Given the description of an element on the screen output the (x, y) to click on. 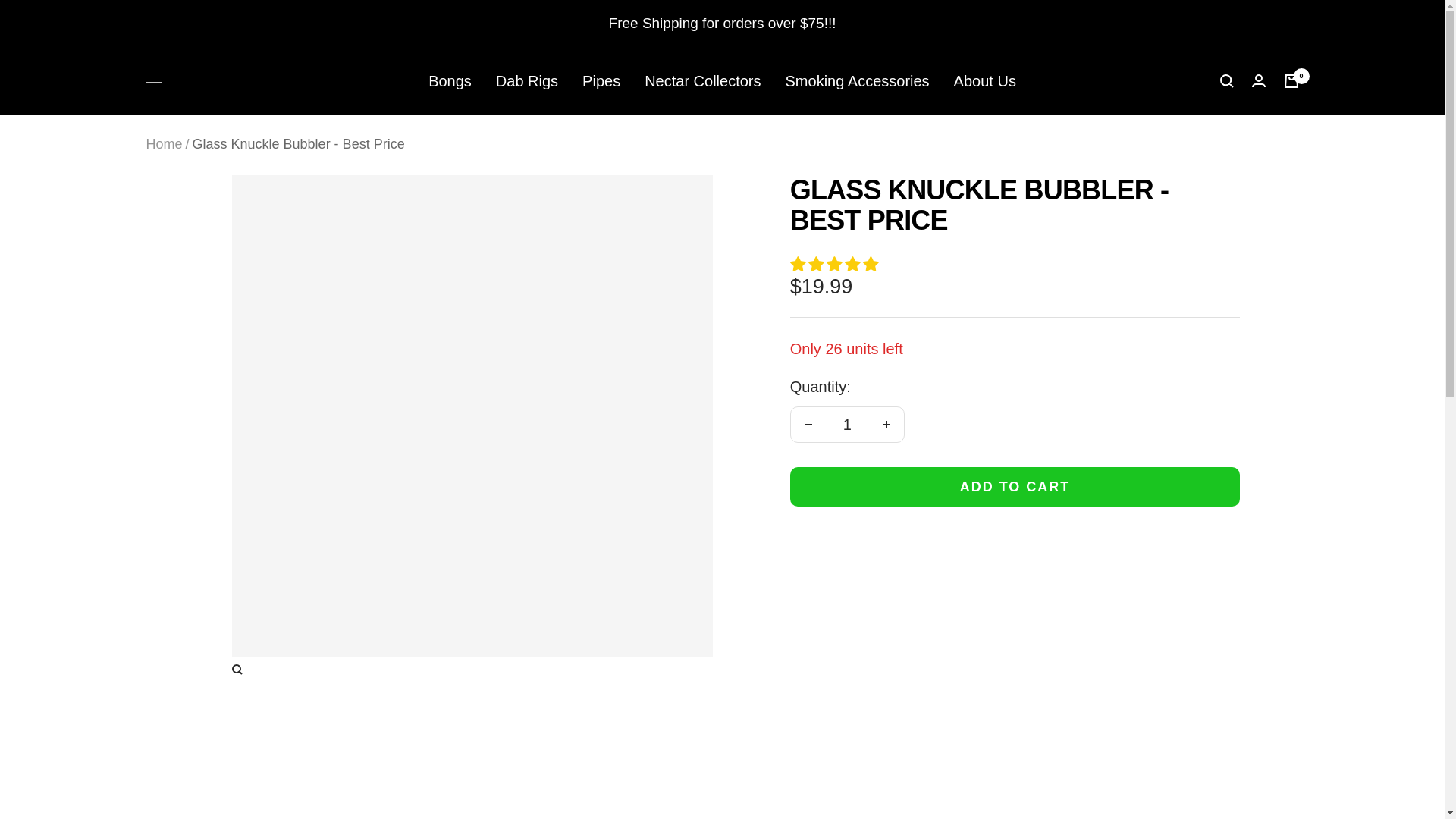
Bongs (449, 81)
Nectar Collectors (702, 81)
0 (1290, 80)
Dab Rigs (526, 81)
Pipes (601, 81)
Smoking Accessories (858, 81)
1 (847, 424)
About Us (984, 81)
Golden Leaf Shop (152, 80)
